Given the description of an element on the screen output the (x, y) to click on. 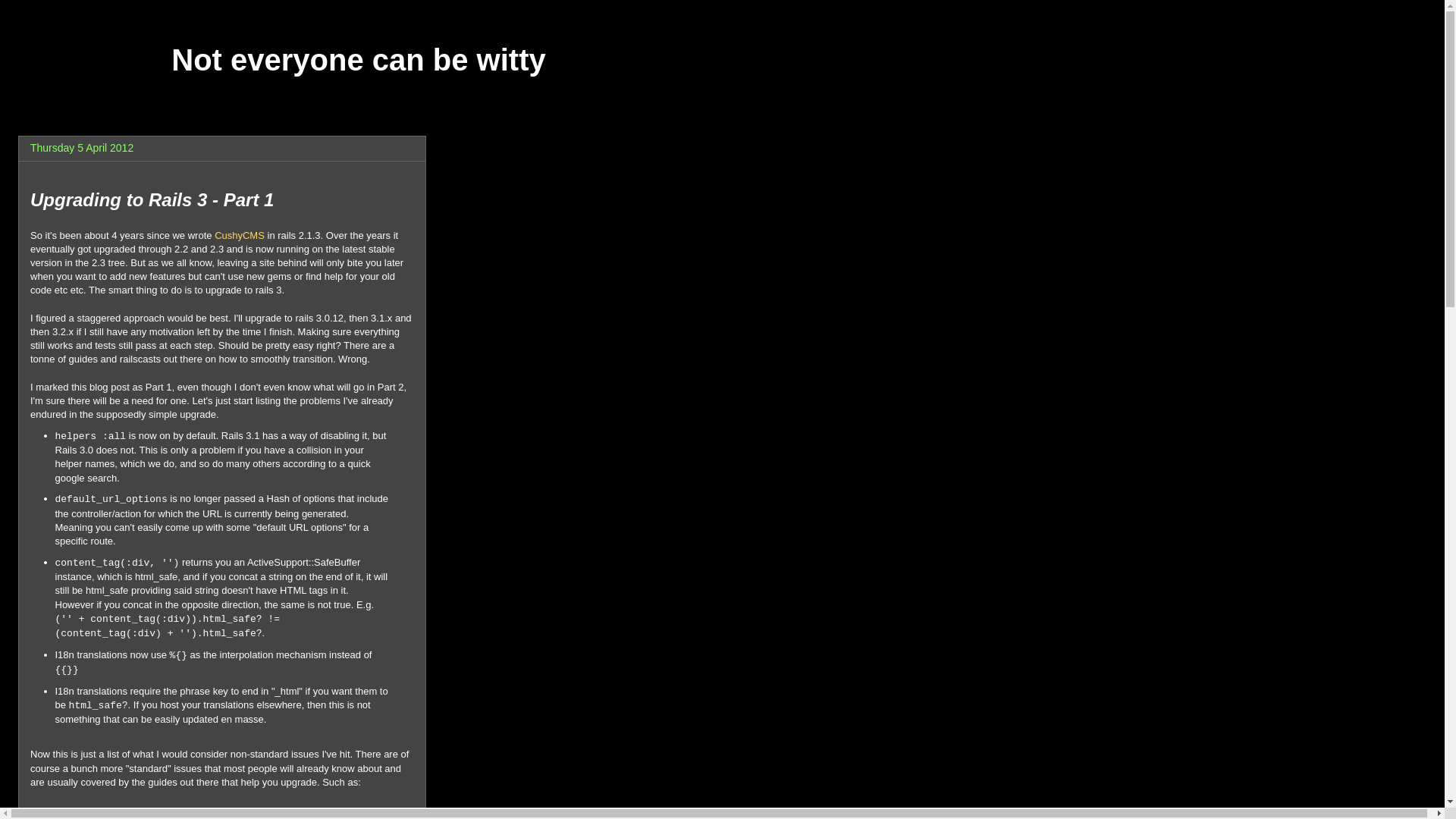
Not everyone can be witty Element type: text (358, 59)
CushyCMS Element type: text (239, 235)
